Given the description of an element on the screen output the (x, y) to click on. 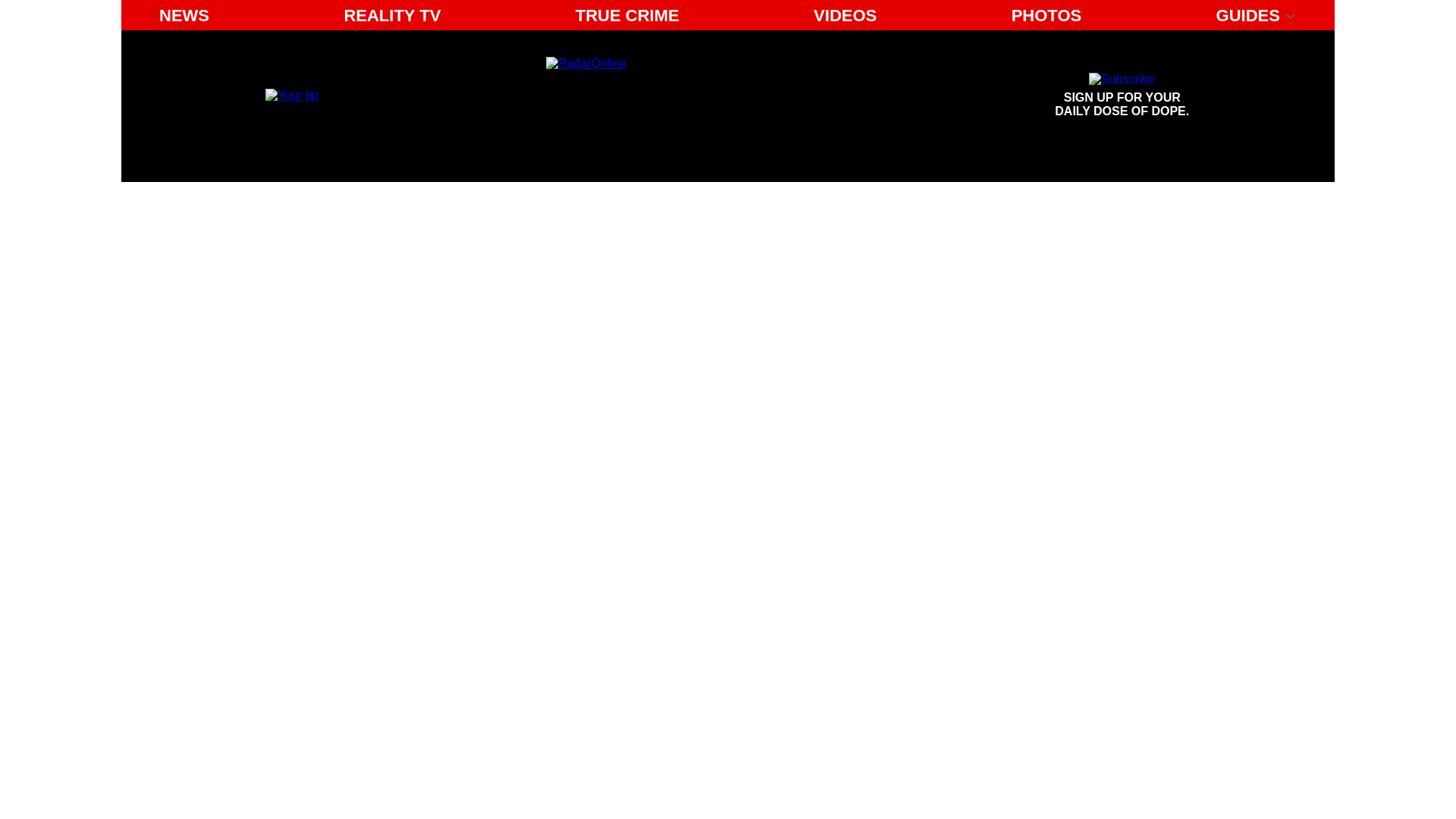
NEWS (183, 15)
PHOTOS (1122, 94)
Radar Online (1046, 15)
TRUE CRIME (685, 95)
REALITY TV (627, 15)
Sign up for your daily dose of dope. (392, 15)
Email us your tip (1122, 94)
VIDEOS (291, 94)
